Given the description of an element on the screen output the (x, y) to click on. 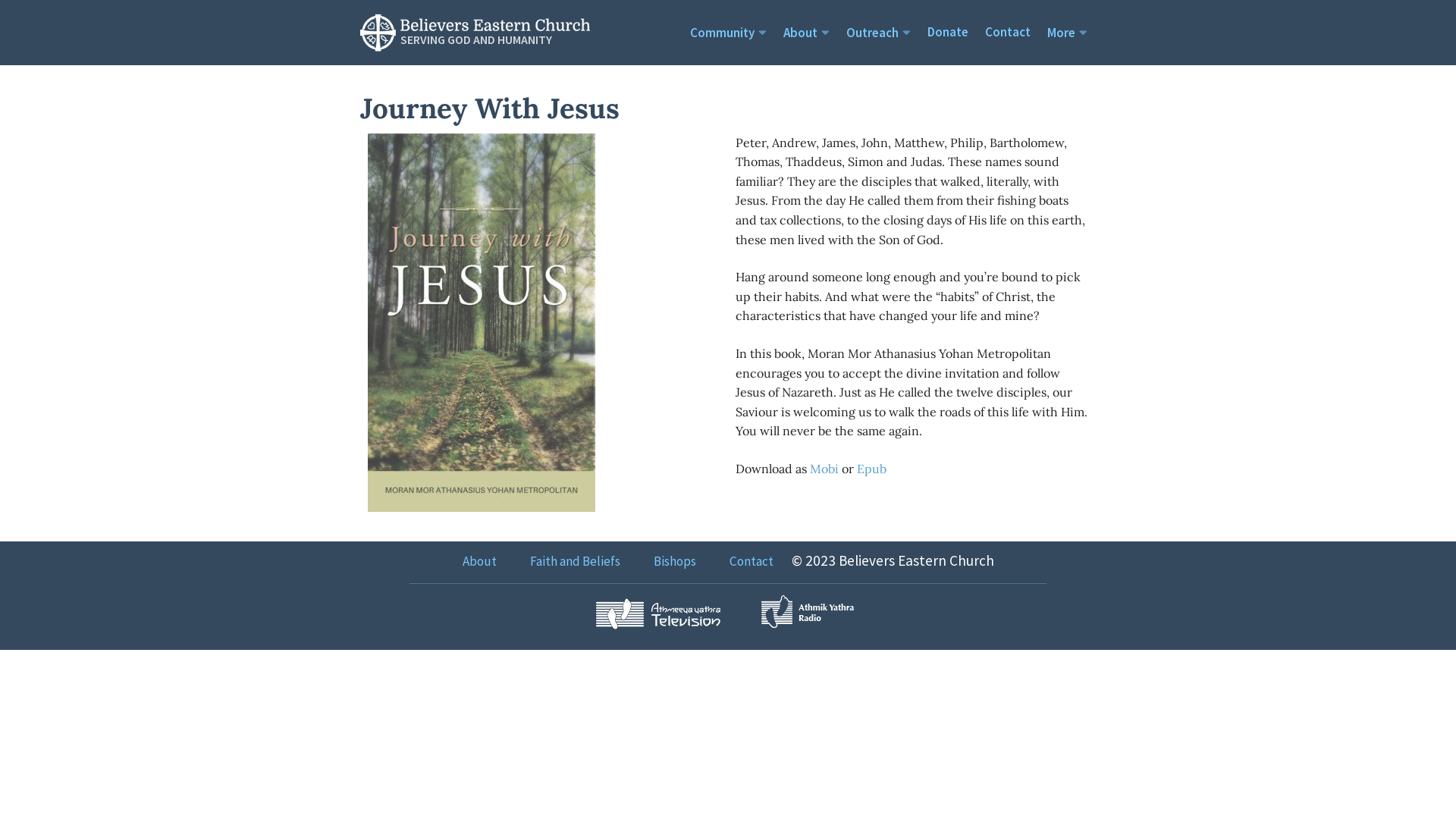
Community Element type: text (728, 32)
Contact Element type: text (1007, 32)
Faith and Beliefs Element type: text (574, 560)
About Element type: text (479, 560)
Mobi Element type: text (823, 468)
Donate Element type: text (947, 32)
More Element type: text (1066, 32)
Epub Element type: text (871, 468)
Bishops Element type: text (674, 560)
SERVING GOD AND HUMANITY Element type: text (474, 28)
Outreach Element type: text (878, 32)
Contact Element type: text (751, 560)
About Element type: text (806, 32)
